Given the description of an element on the screen output the (x, y) to click on. 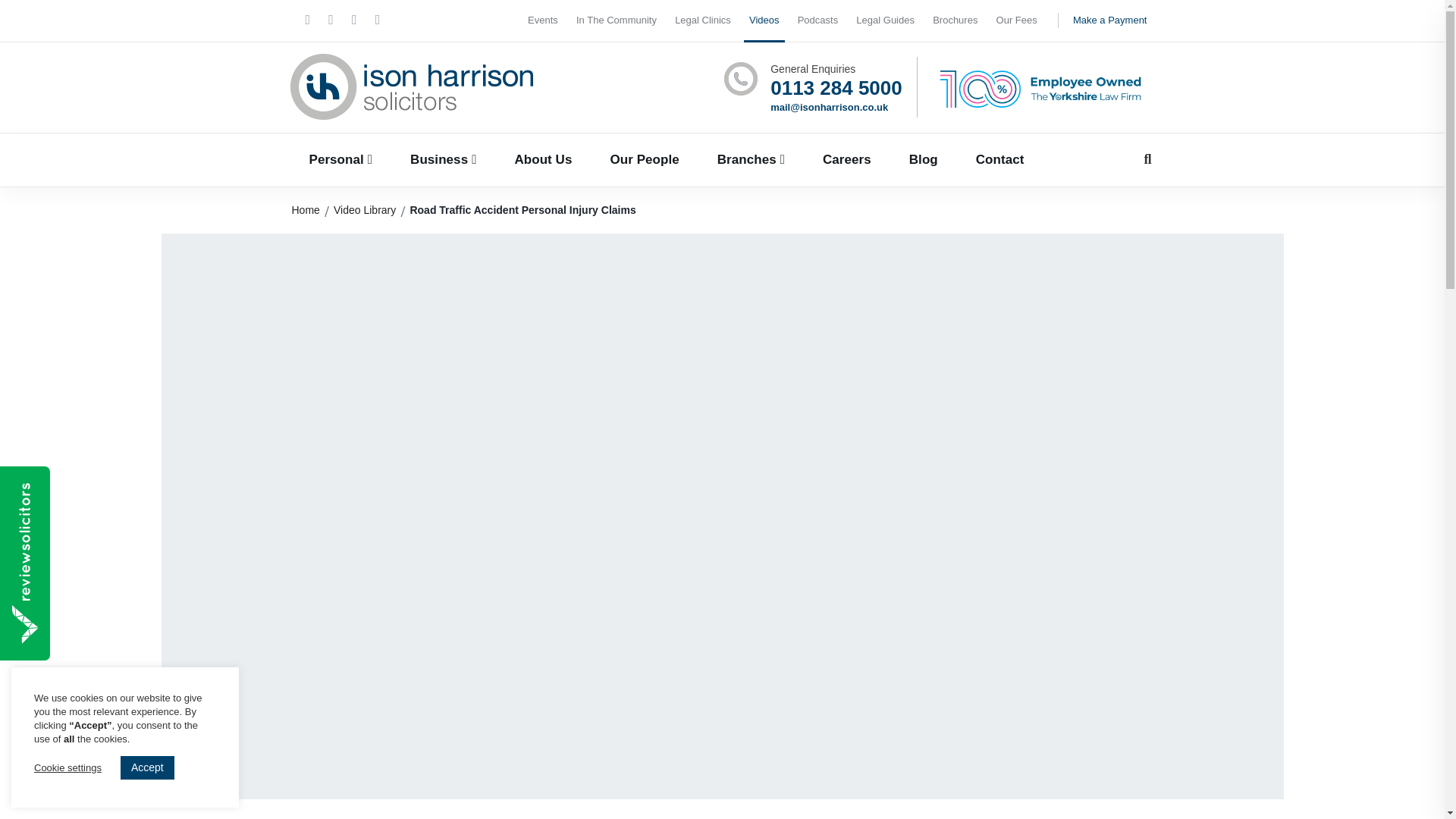
Our Fees (1016, 20)
0113 284 5000 (836, 88)
Events (542, 20)
In The Community (616, 20)
Brochures (954, 20)
Personal (340, 159)
Legal Clinics (702, 20)
Podcasts (817, 20)
Legal Guides (884, 20)
Videos (764, 20)
Make a Payment (1106, 20)
